Given the description of an element on the screen output the (x, y) to click on. 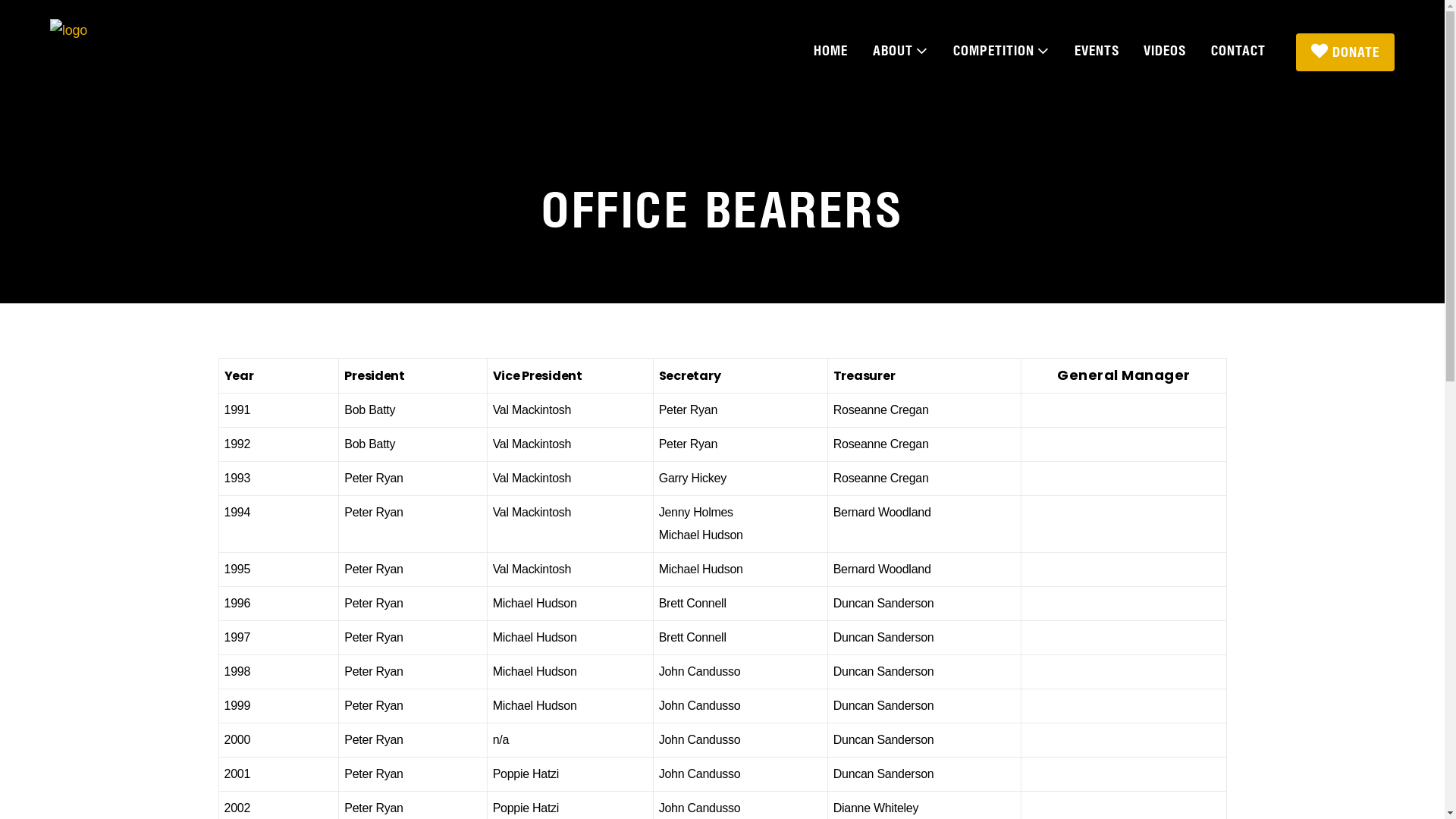
CONTACT Element type: text (1238, 58)
VIDEOS Element type: text (1164, 58)
HOME Element type: text (830, 58)
EVENTS Element type: text (1096, 58)
DONATE Element type: text (1344, 52)
COMPETITION Element type: text (1001, 58)
ABOUT Element type: text (900, 58)
